Given the description of an element on the screen output the (x, y) to click on. 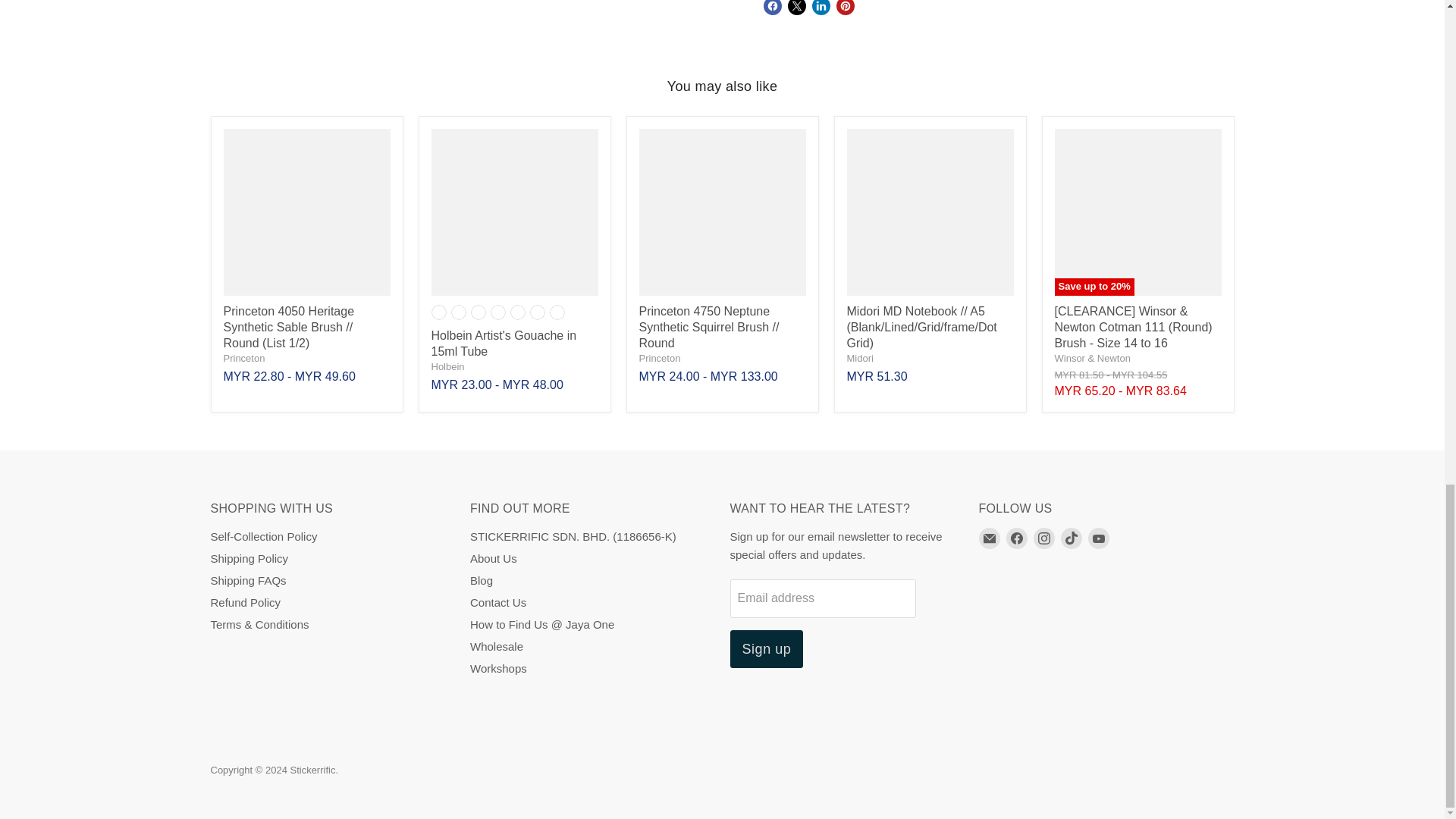
Princeton (243, 357)
Holbein (447, 366)
Midori (858, 357)
Princeton (659, 357)
